Given the description of an element on the screen output the (x, y) to click on. 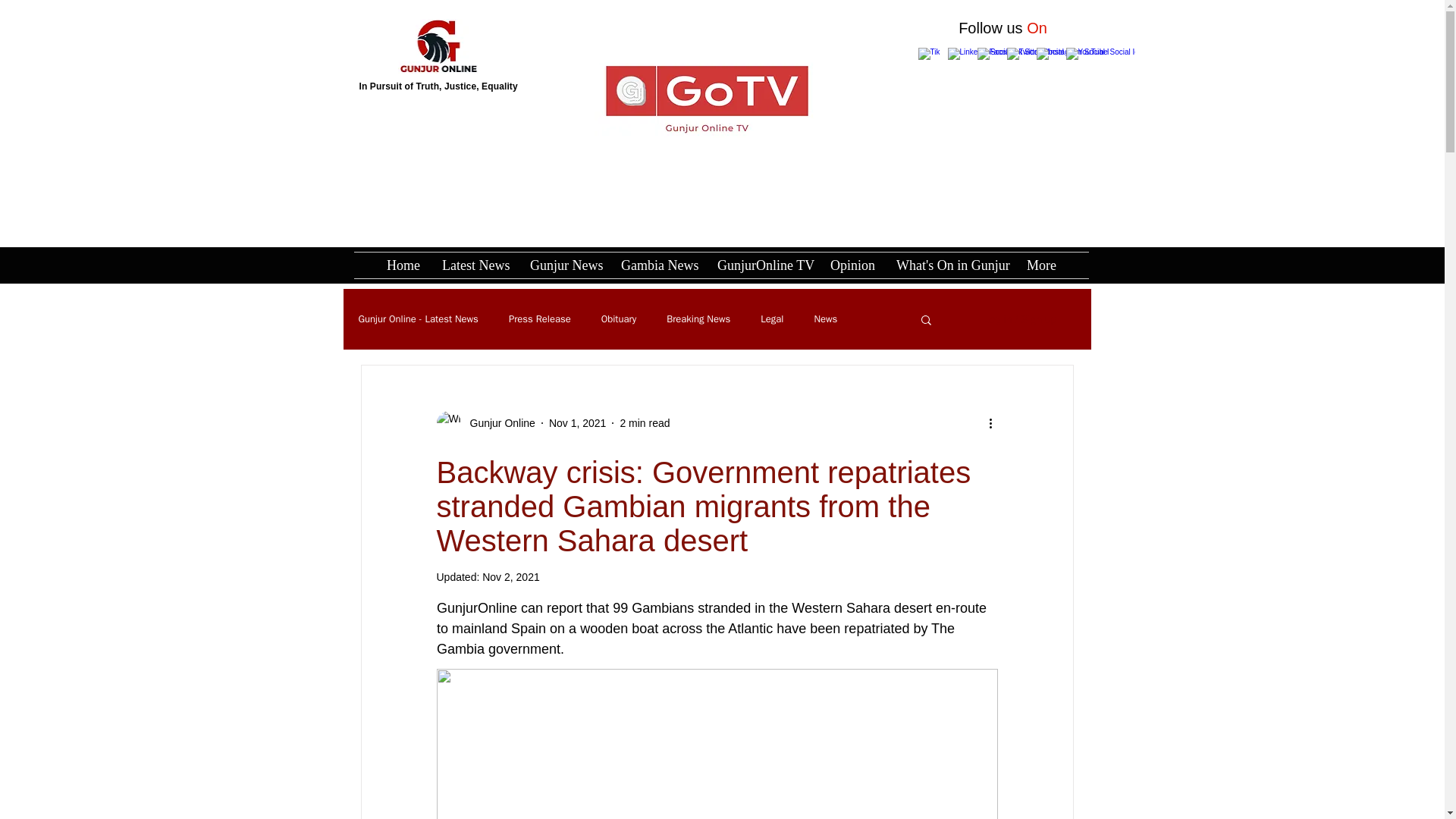
Breaking News (698, 318)
GunjurOnline TV (762, 265)
News (825, 318)
What's On in Gunjur (949, 265)
Gambia News (658, 265)
Obituary (618, 318)
Latest News (474, 265)
Legal (771, 318)
Gunjur Online (498, 423)
Gunjur News (564, 265)
